Given the description of an element on the screen output the (x, y) to click on. 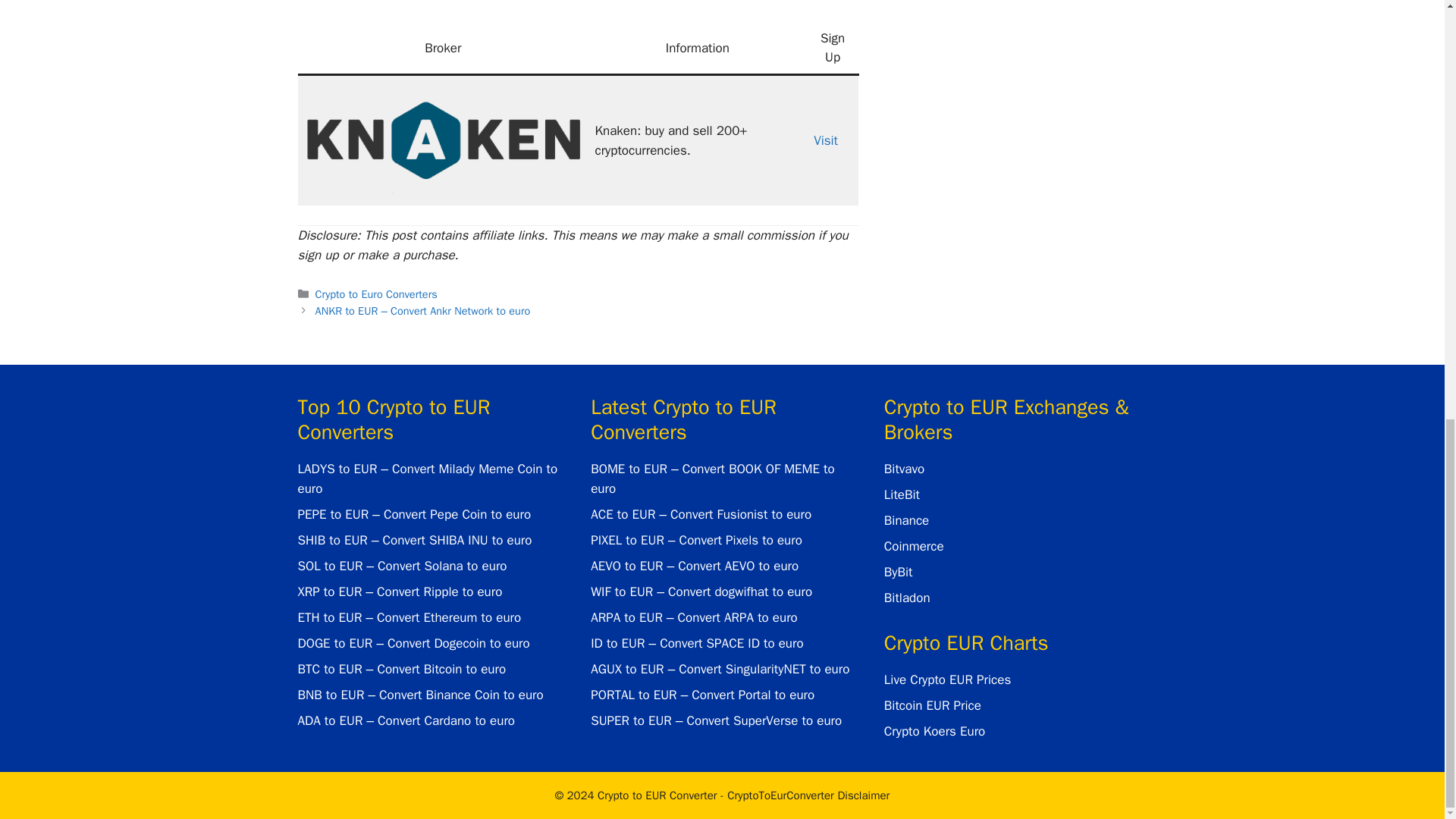
Crypto to Euro Converters (376, 294)
Disclaimer (807, 795)
Visit (825, 140)
AID to EUR - Convert AidCoin to euro (442, 137)
